Given the description of an element on the screen output the (x, y) to click on. 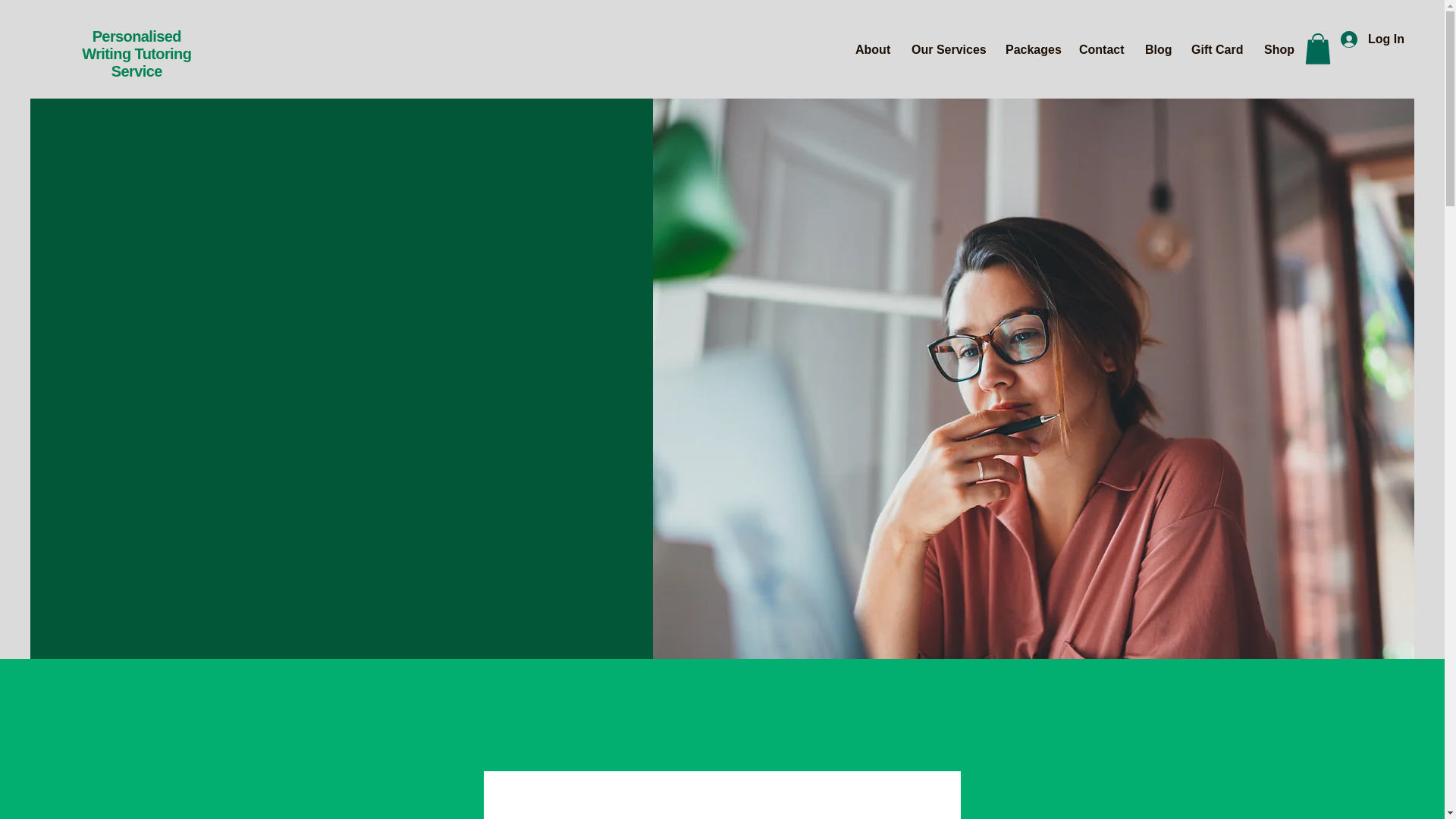
Log In (1372, 39)
Packages (1030, 49)
Blog (1156, 49)
Our Services (946, 49)
Personalised Writing Tutoring Service (135, 53)
About (871, 49)
Shop (1277, 49)
Contact (1100, 49)
Gift Card (1215, 49)
